Given the description of an element on the screen output the (x, y) to click on. 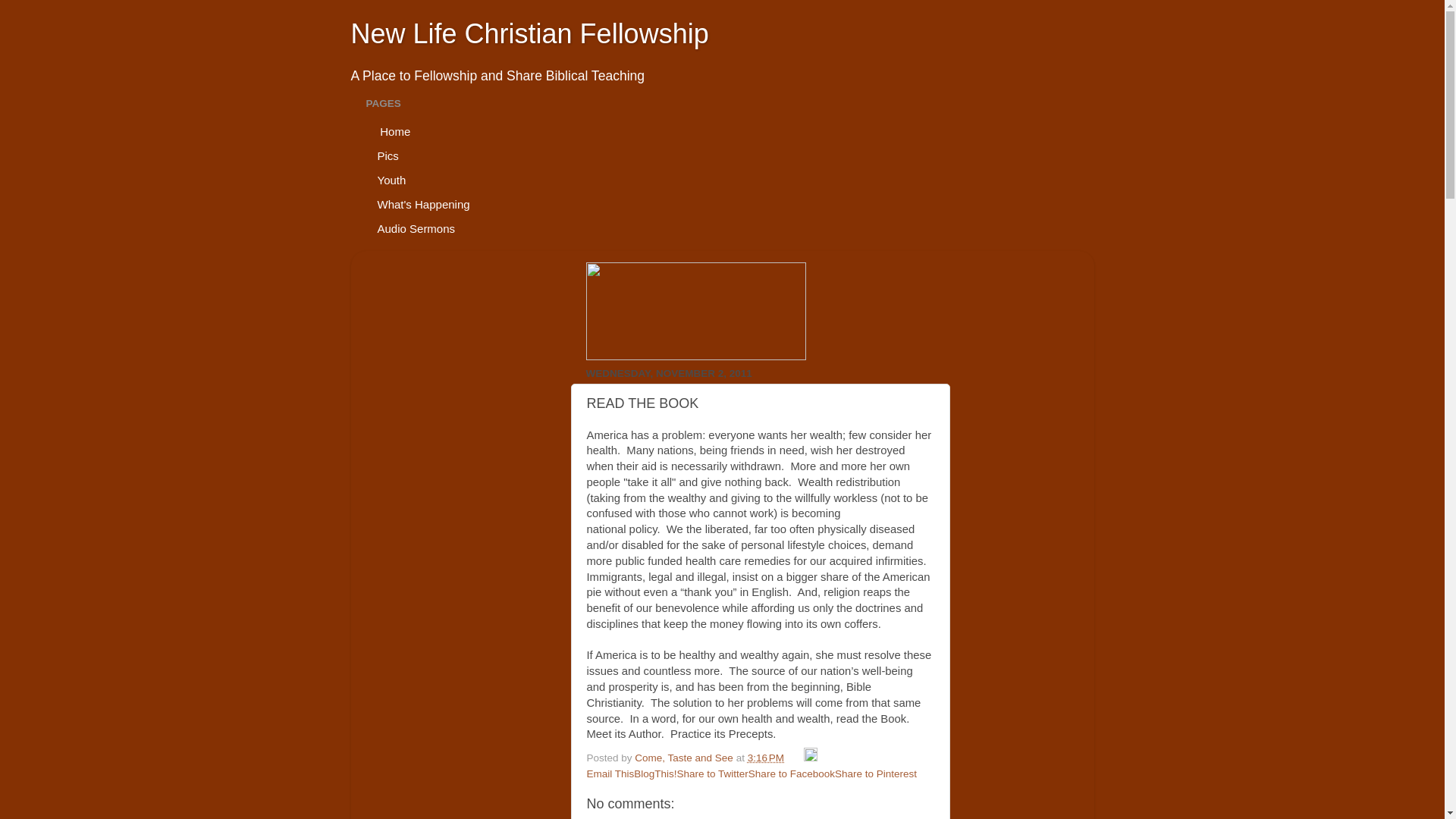
New Life Christian Fellowship (528, 33)
Share to Pinterest (875, 773)
Come, Taste and See (684, 757)
BlogThis! (655, 773)
Audio Sermons (416, 228)
author profile (684, 757)
Share to Facebook (791, 773)
What's Happening (423, 203)
Email This (610, 773)
permanent link (766, 757)
Email Post (795, 757)
Share to Facebook (791, 773)
Email This (610, 773)
Pics (387, 155)
